Given the description of an element on the screen output the (x, y) to click on. 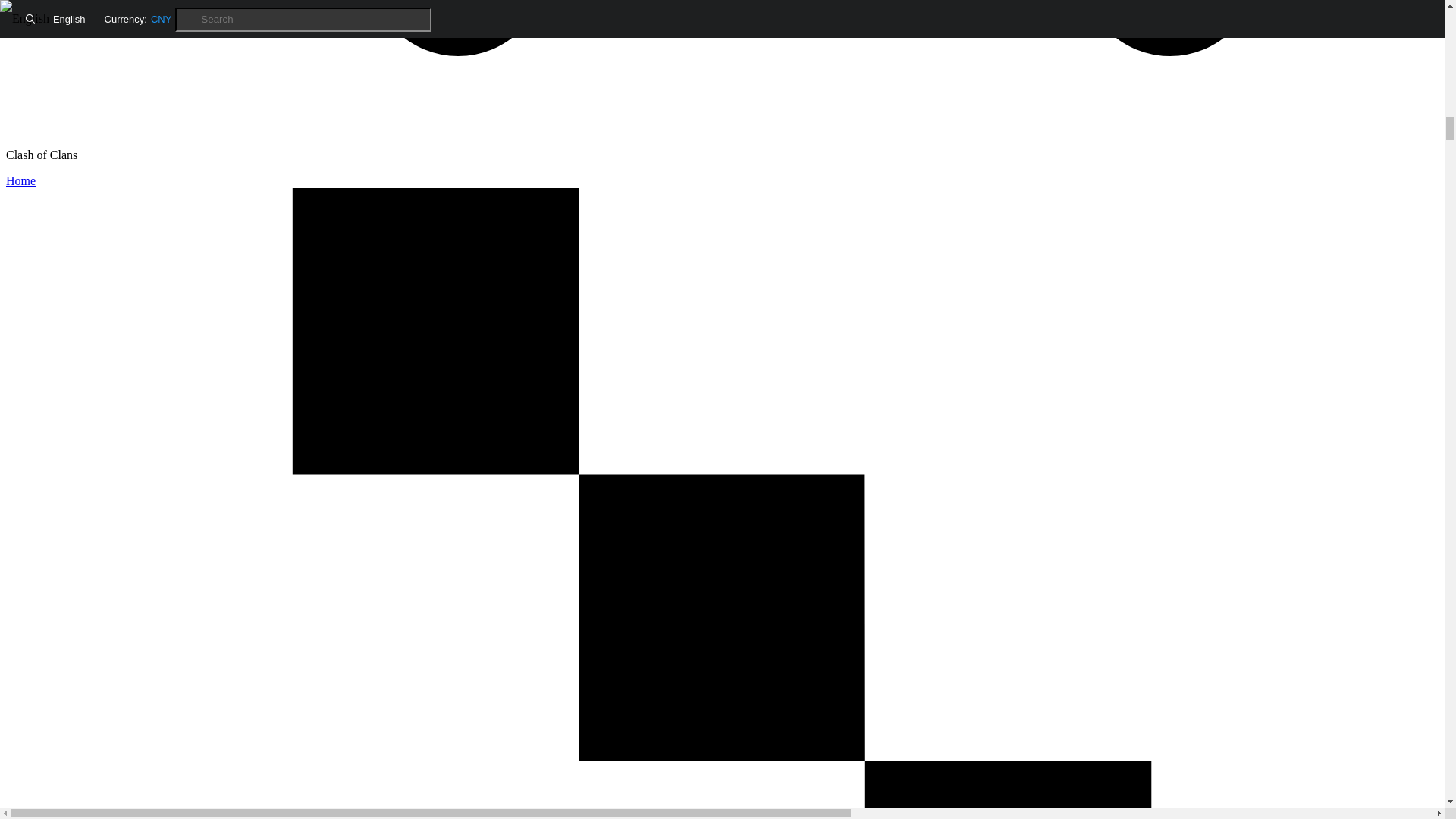
Home (19, 180)
